Given the description of an element on the screen output the (x, y) to click on. 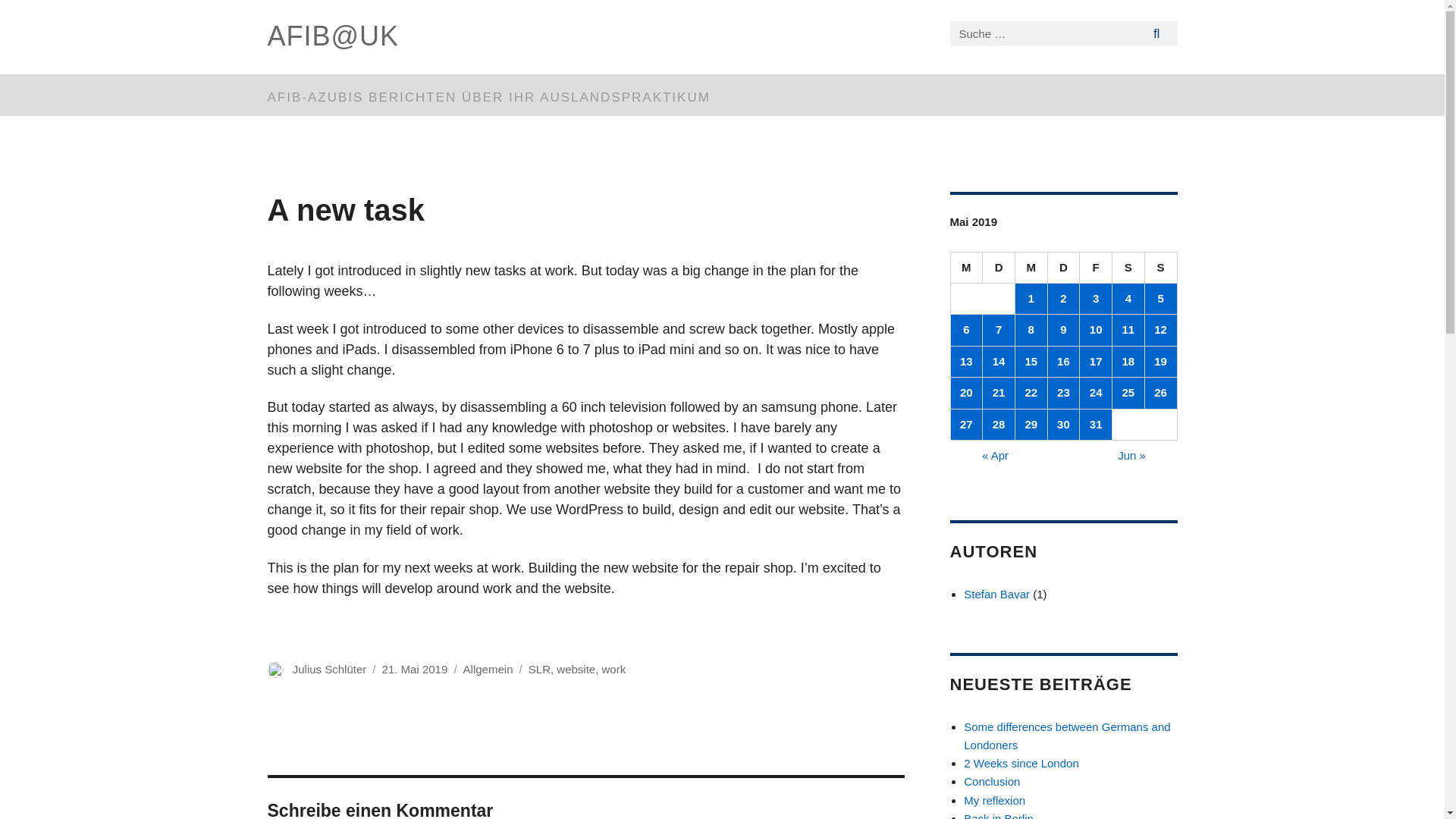
5 (1160, 298)
21 (998, 392)
1 (1030, 298)
6 (966, 329)
23 (1064, 392)
Samstag (1128, 267)
11 (1128, 329)
21. Mai 2019 (414, 668)
7 (998, 329)
3 (1096, 298)
